Given the description of an element on the screen output the (x, y) to click on. 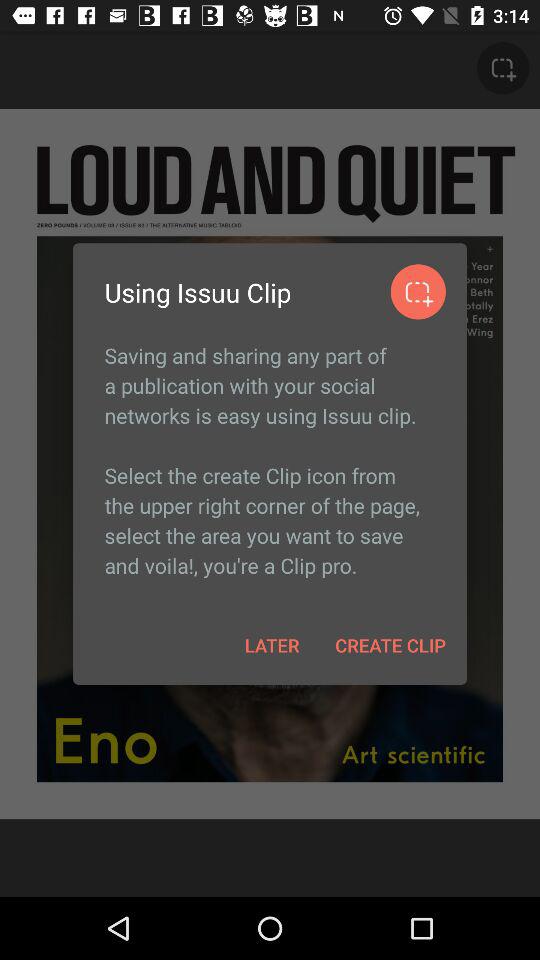
open the item next to create clip item (272, 644)
